Given the description of an element on the screen output the (x, y) to click on. 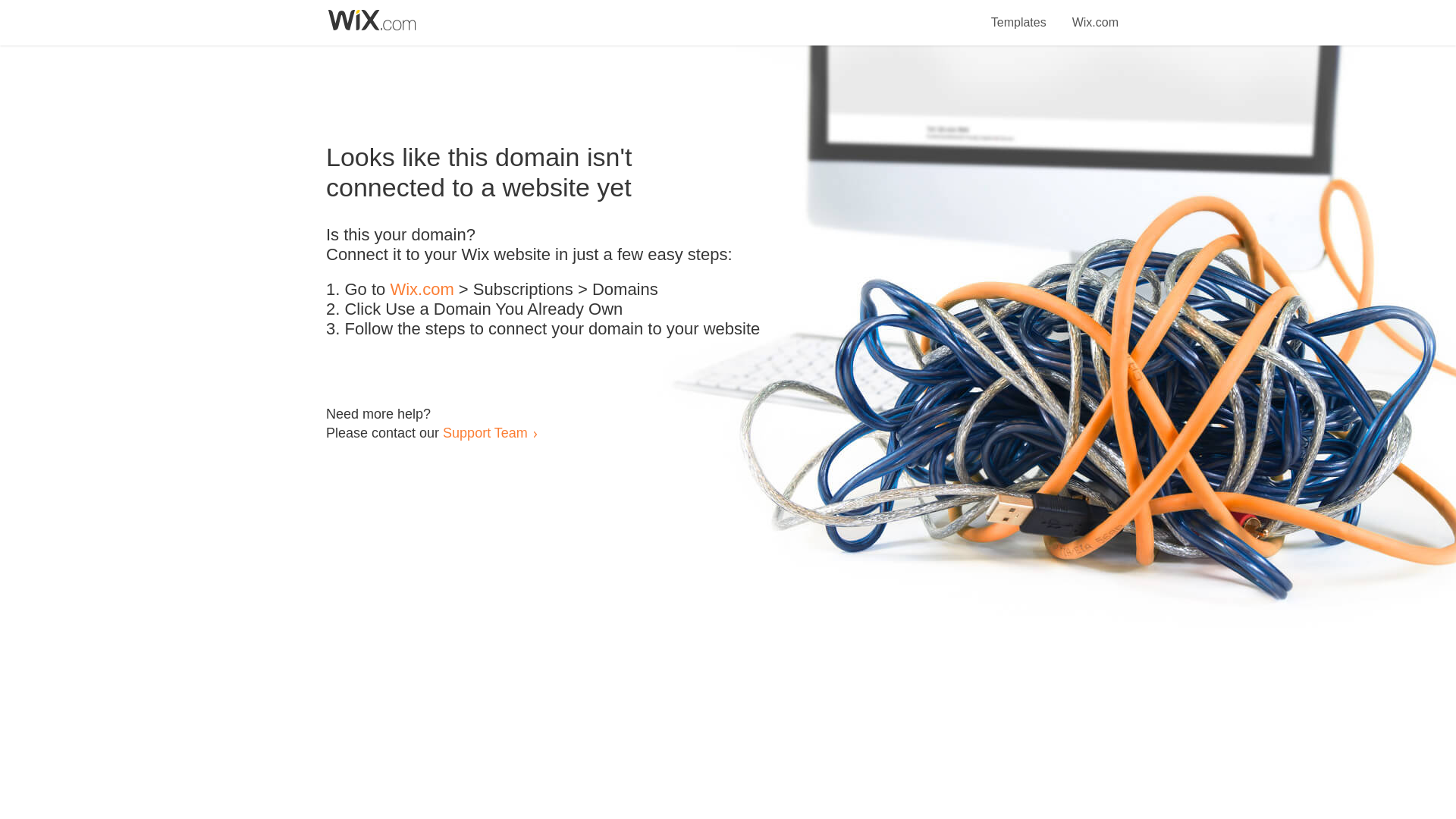
Support Team (484, 432)
Wix.com (1095, 14)
Wix.com (421, 289)
Templates (1018, 14)
